Given the description of an element on the screen output the (x, y) to click on. 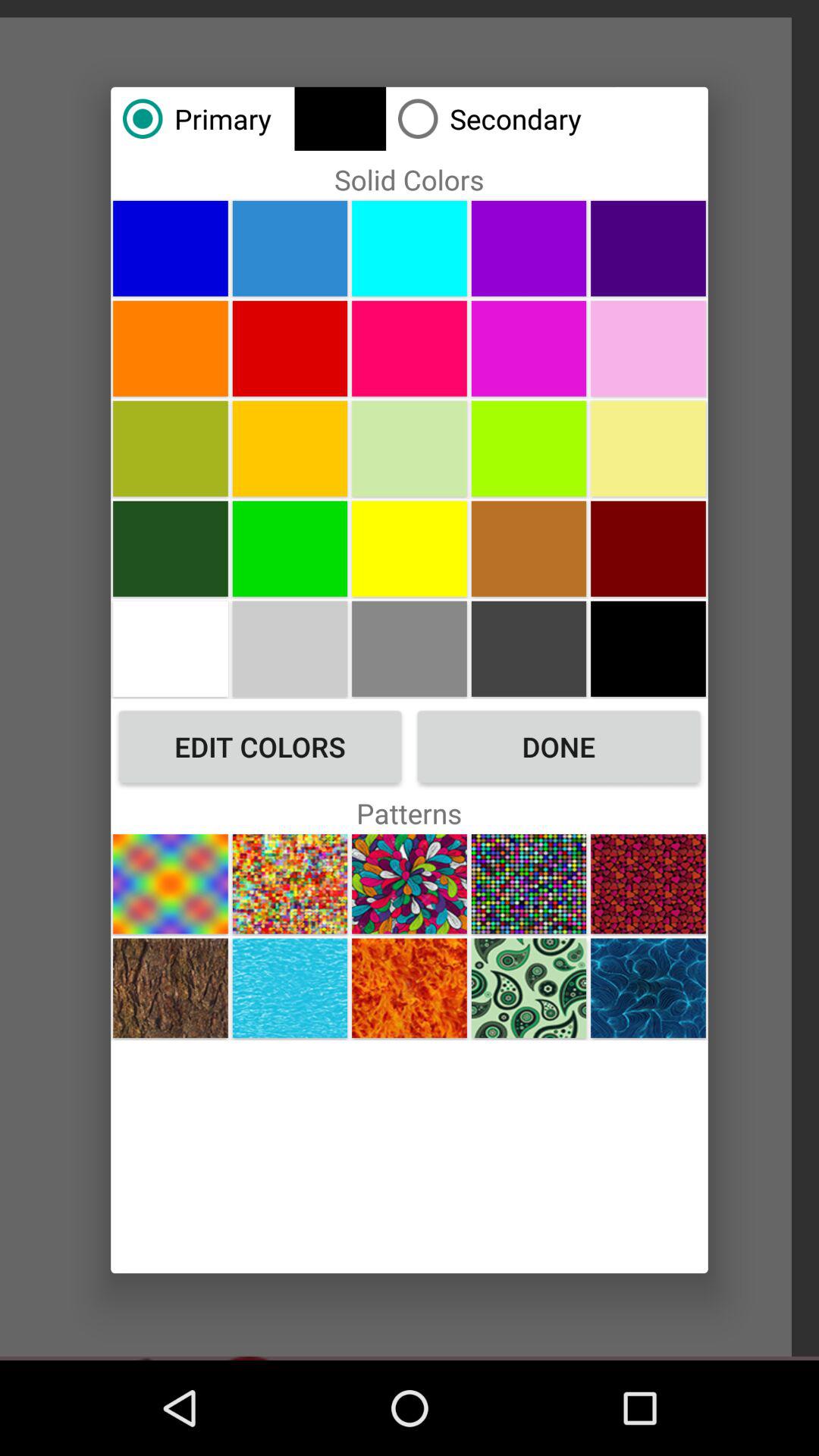
select paisley pattern (528, 987)
